Given the description of an element on the screen output the (x, y) to click on. 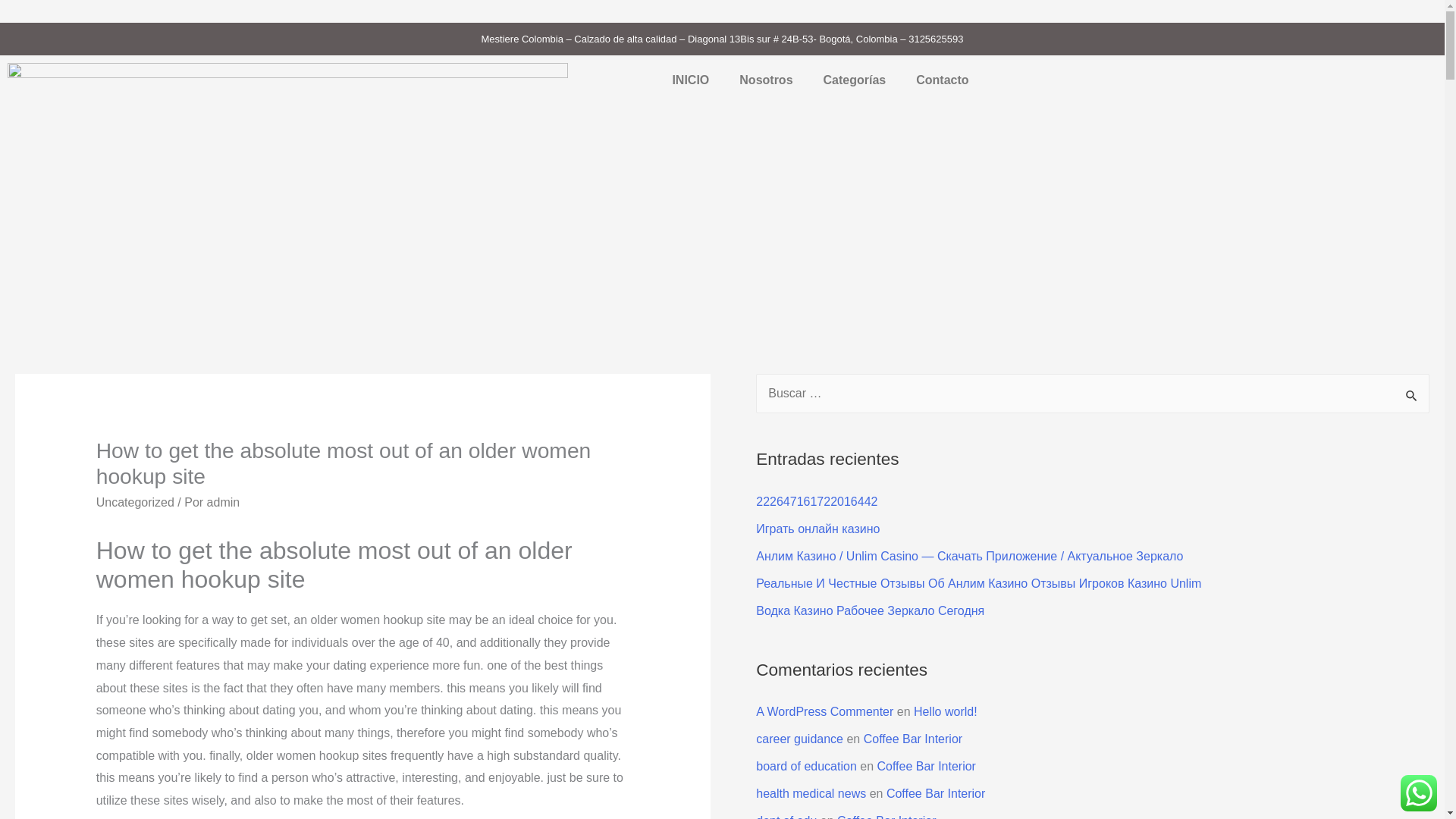
Coffee Bar Interior (925, 766)
INICIO (689, 80)
admin (223, 502)
Hello world! (945, 711)
A WordPress Commenter (824, 711)
Coffee Bar Interior (935, 793)
Contacto (942, 80)
Uncategorized (135, 502)
222647161722016442 (816, 501)
health medical news (810, 793)
Ver todas las entradas de admin (223, 502)
Nosotros (765, 80)
career guidance (799, 738)
Coffee Bar Interior (912, 738)
board of education (806, 766)
